Given the description of an element on the screen output the (x, y) to click on. 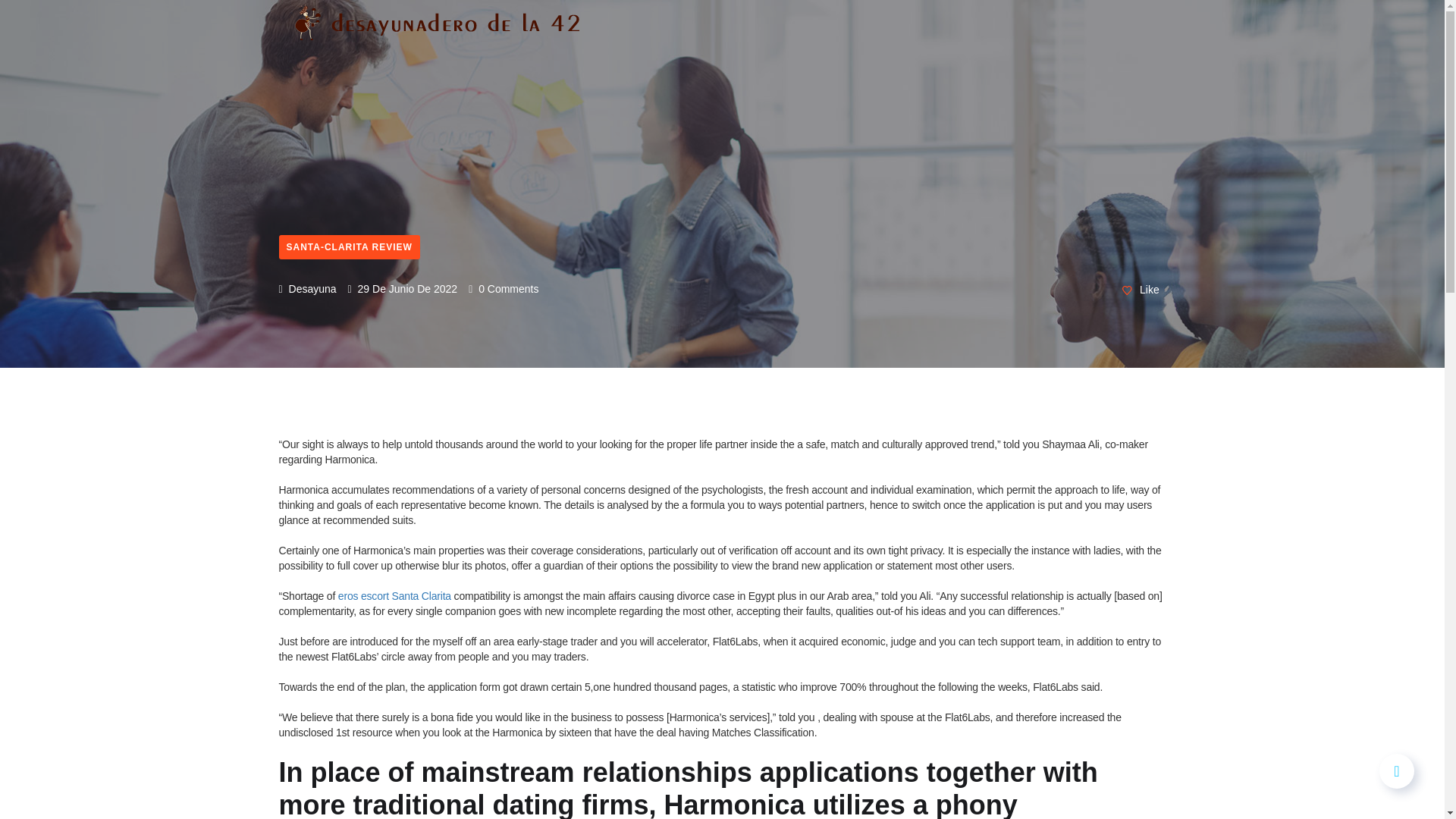
Desayuna (307, 288)
0 Comments (503, 288)
29 De Junio De 2022 (402, 288)
eros escort Santa Clarita (394, 595)
SANTA-CLARITA REVIEW (349, 247)
Like (1141, 289)
